Given the description of an element on the screen output the (x, y) to click on. 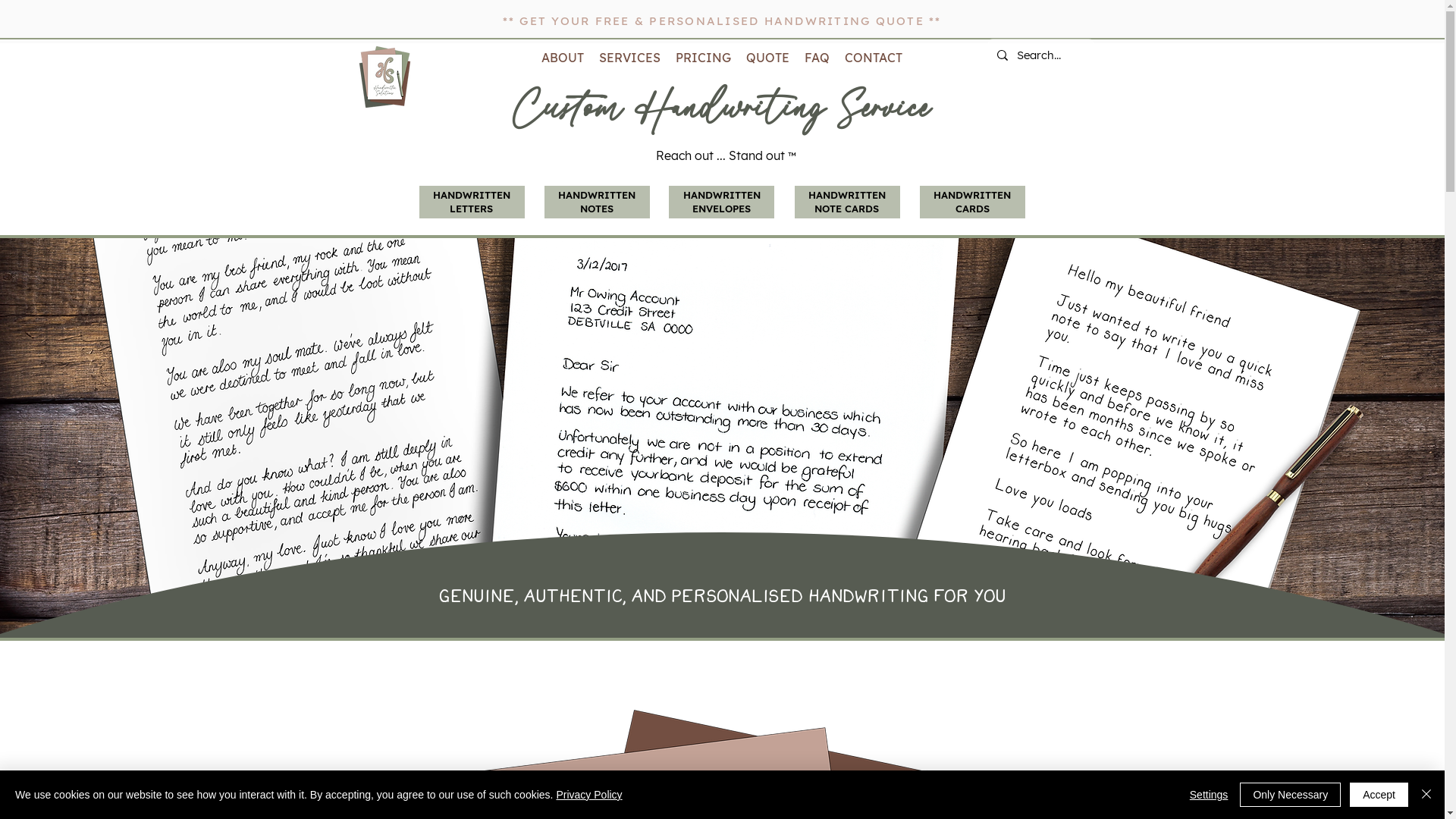
Custom Handwriting Service Element type: hover (383, 76)
ABOUT Element type: text (562, 58)
** GET YOUR FREE & PERSONALISED HANDWRITING QUOTE ** Element type: text (721, 20)
CONTACT Element type: text (873, 58)
Privacy Policy Element type: text (588, 794)
Accept Element type: text (1378, 794)
Only Necessary Element type: text (1289, 794)
FAQ Element type: text (816, 58)
PRICING Element type: text (702, 58)
QUOTE Element type: text (767, 58)
